Given the description of an element on the screen output the (x, y) to click on. 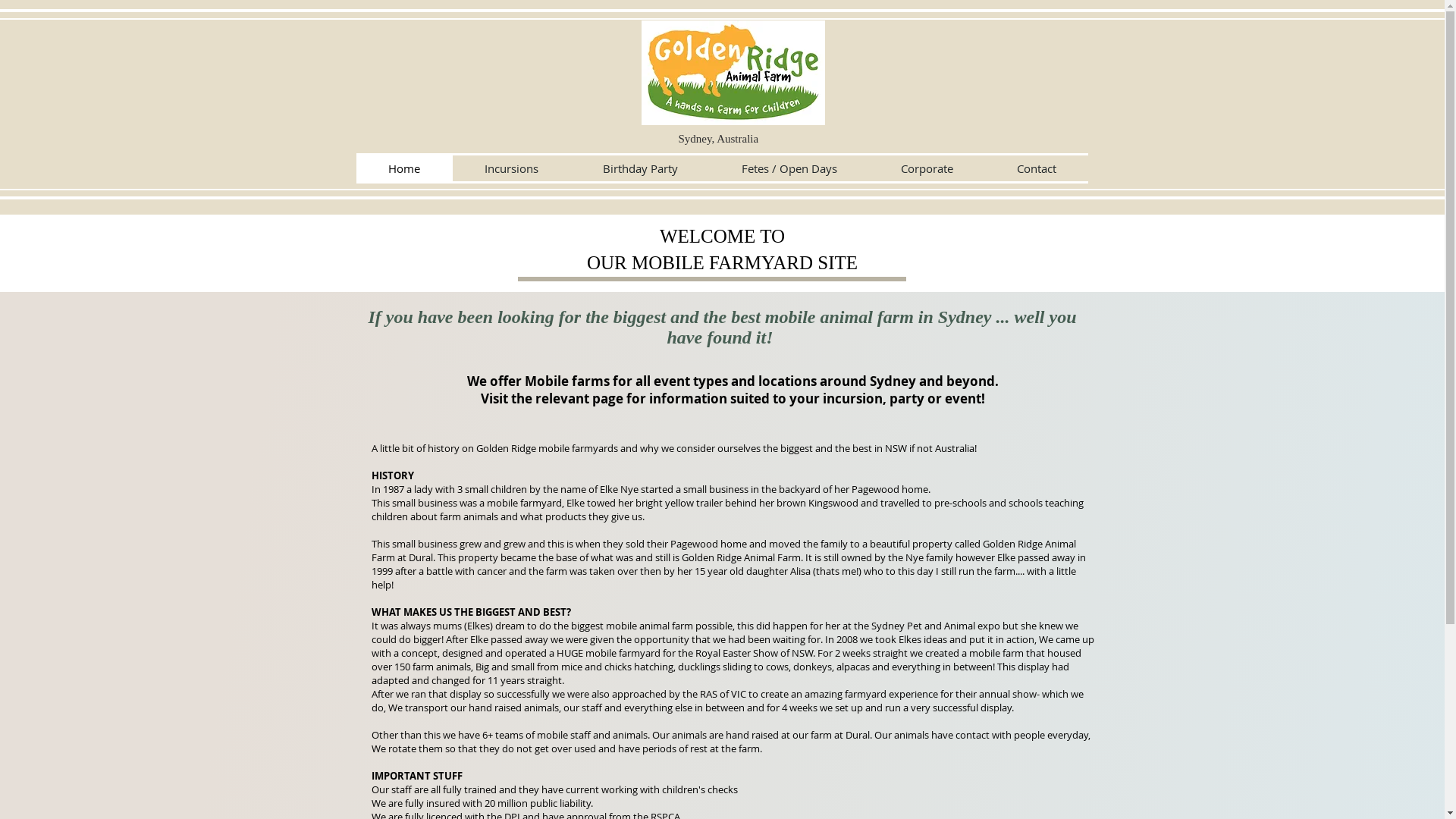
Incursions Element type: text (510, 168)
Fetes / Open Days Element type: text (789, 168)
Contact Element type: text (1035, 168)
Home Element type: text (404, 168)
Birthday Party Element type: text (639, 168)
Corporate Element type: text (927, 168)
